Given the description of an element on the screen output the (x, y) to click on. 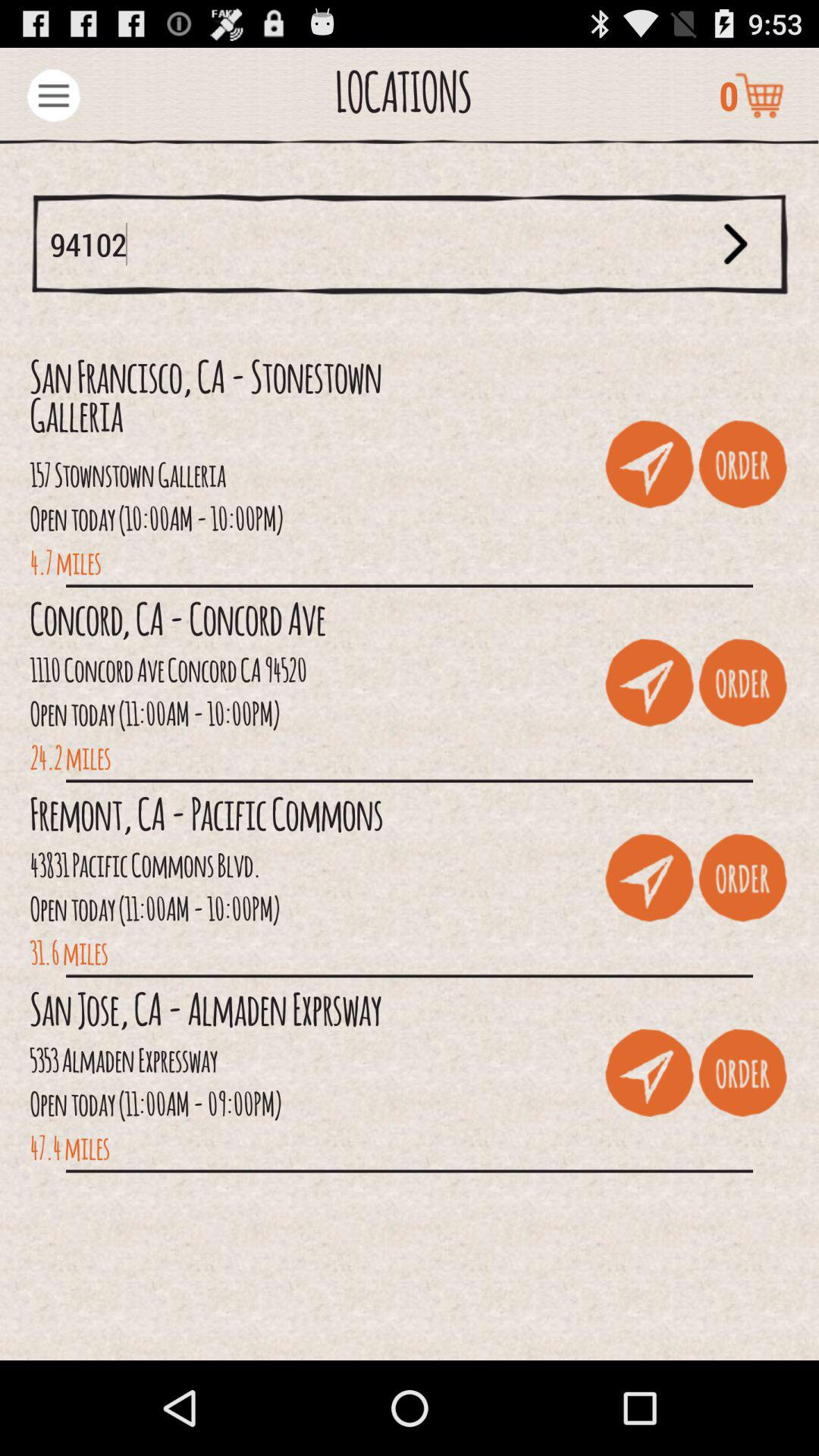
settings (53, 95)
